Given the description of an element on the screen output the (x, y) to click on. 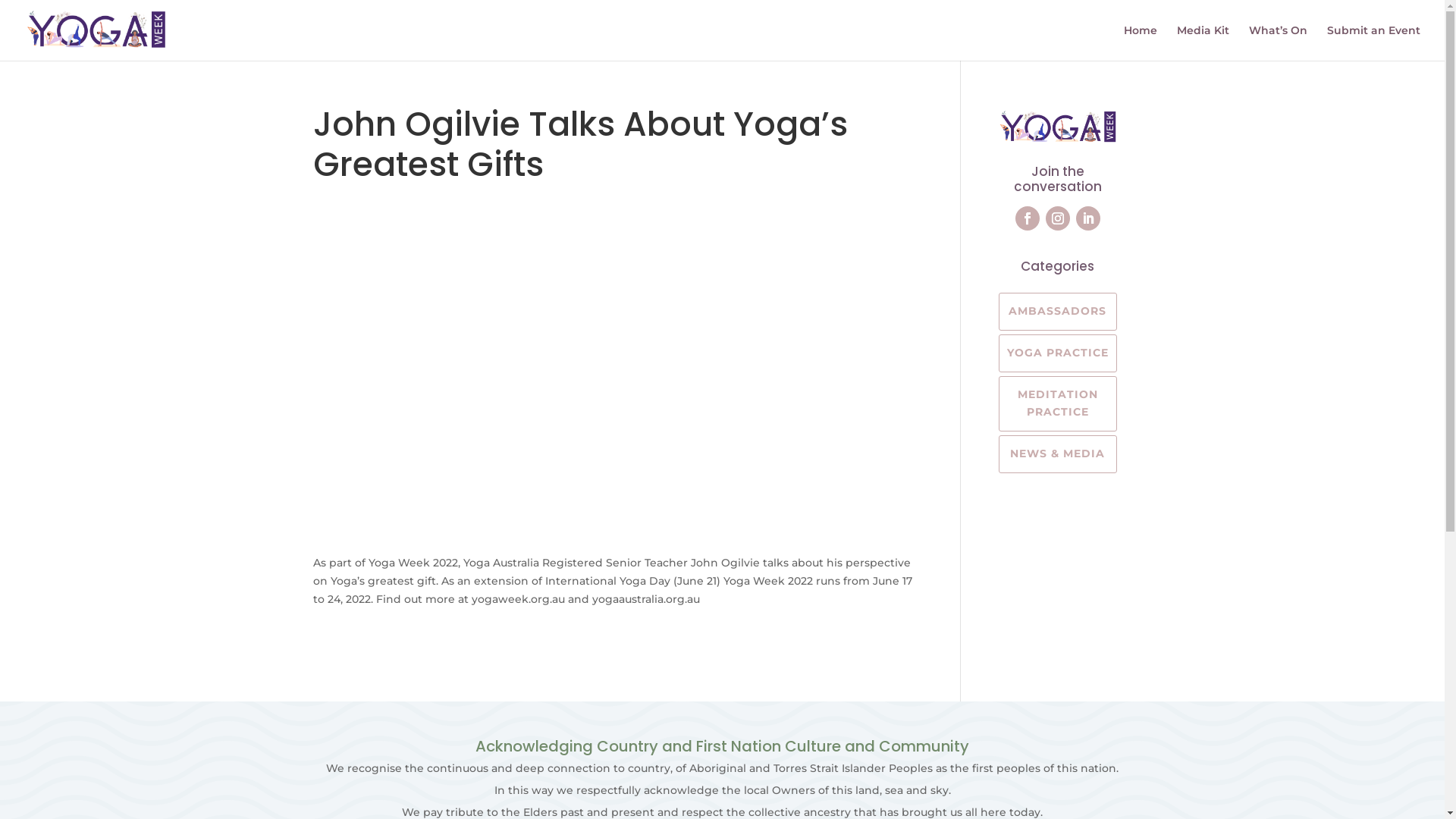
Yoga Week Web Logo Element type: hover (1057, 127)
Submit an Event Element type: text (1373, 42)
Follow on LinkedIn Element type: hover (1088, 218)
Media Kit Element type: text (1202, 42)
Home Element type: text (1140, 42)
Follow on Instagram Element type: hover (1057, 218)
Follow on Facebook Element type: hover (1027, 218)
